Given the description of an element on the screen output the (x, y) to click on. 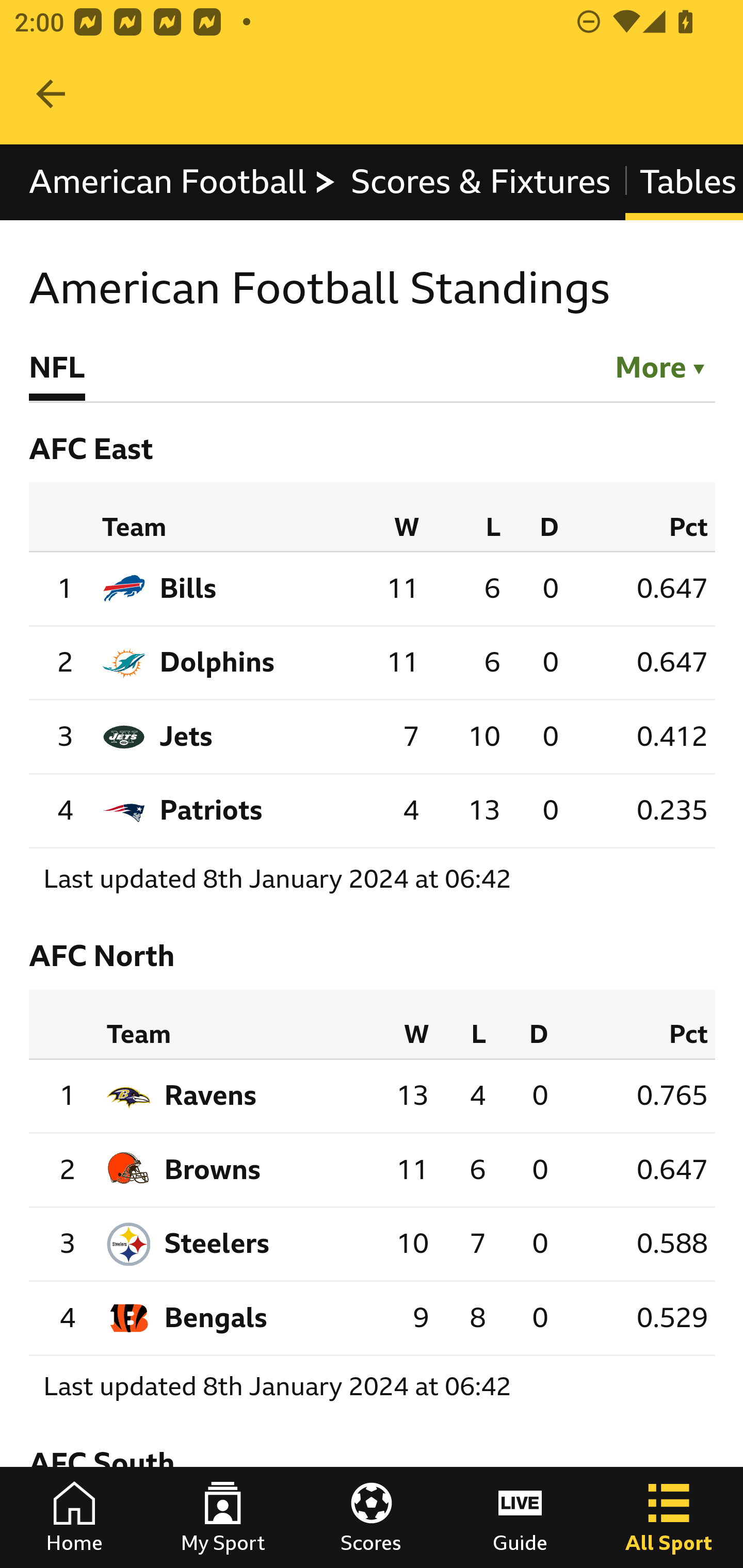
Navigate up (50, 93)
American Football  (182, 181)
Scores & Fixtures (480, 181)
Tables (683, 181)
Filter by section. Currently selected: NFL (650, 364)
Buffalo Bills (188, 588)
Miami Dolphins (217, 662)
New York Jets (186, 736)
New England Patriots (211, 810)
Baltimore Ravens (209, 1094)
Cleveland Browns (211, 1170)
Pittsburgh Steelers (216, 1243)
Cincinnati Bengals (215, 1317)
Home (74, 1517)
My Sport (222, 1517)
Scores (371, 1517)
Guide (519, 1517)
